Given the description of an element on the screen output the (x, y) to click on. 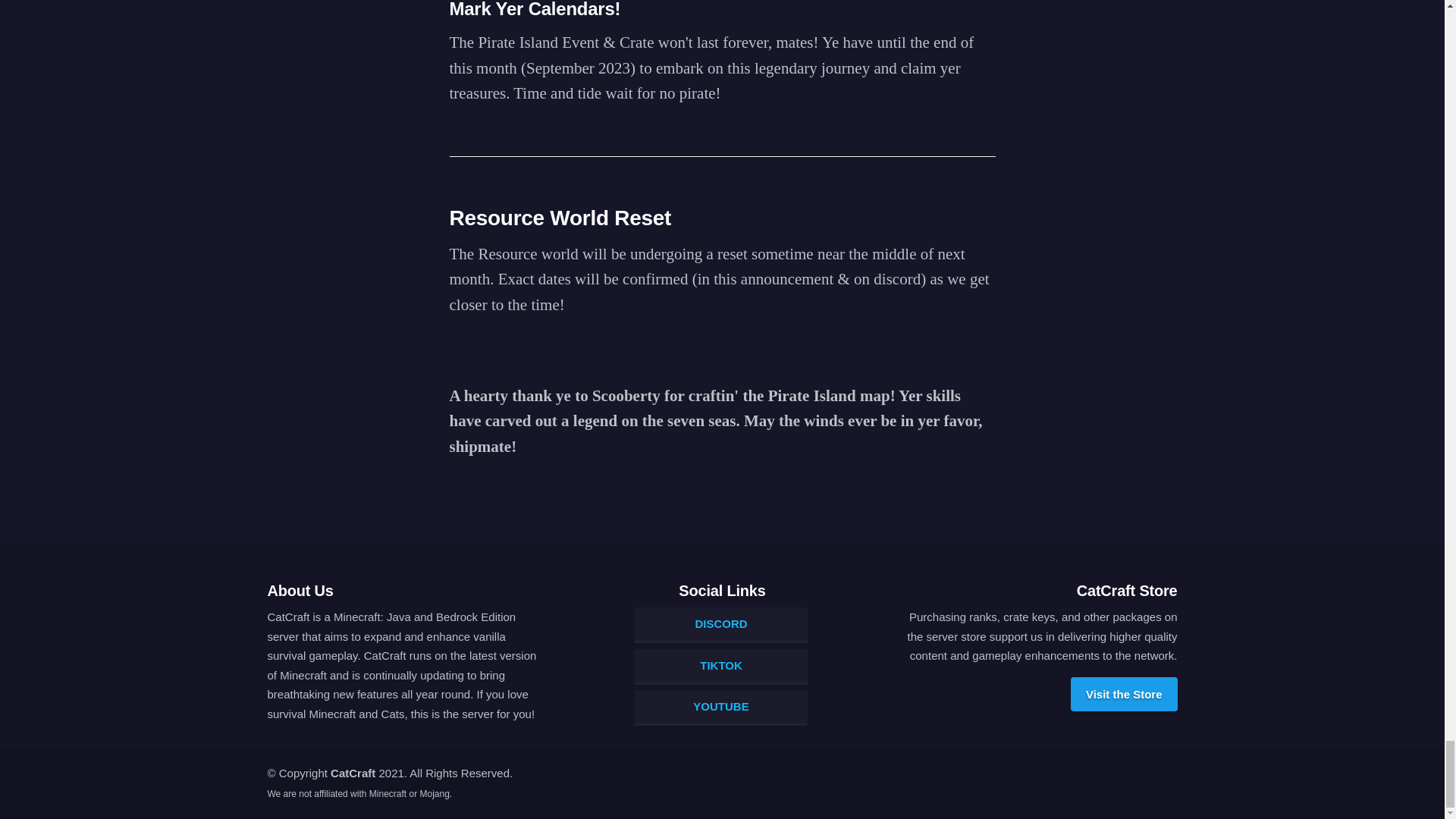
TIKTOK (720, 666)
DISCORD (720, 624)
Visit the Store (1123, 694)
YOUTUBE (720, 707)
